Given the description of an element on the screen output the (x, y) to click on. 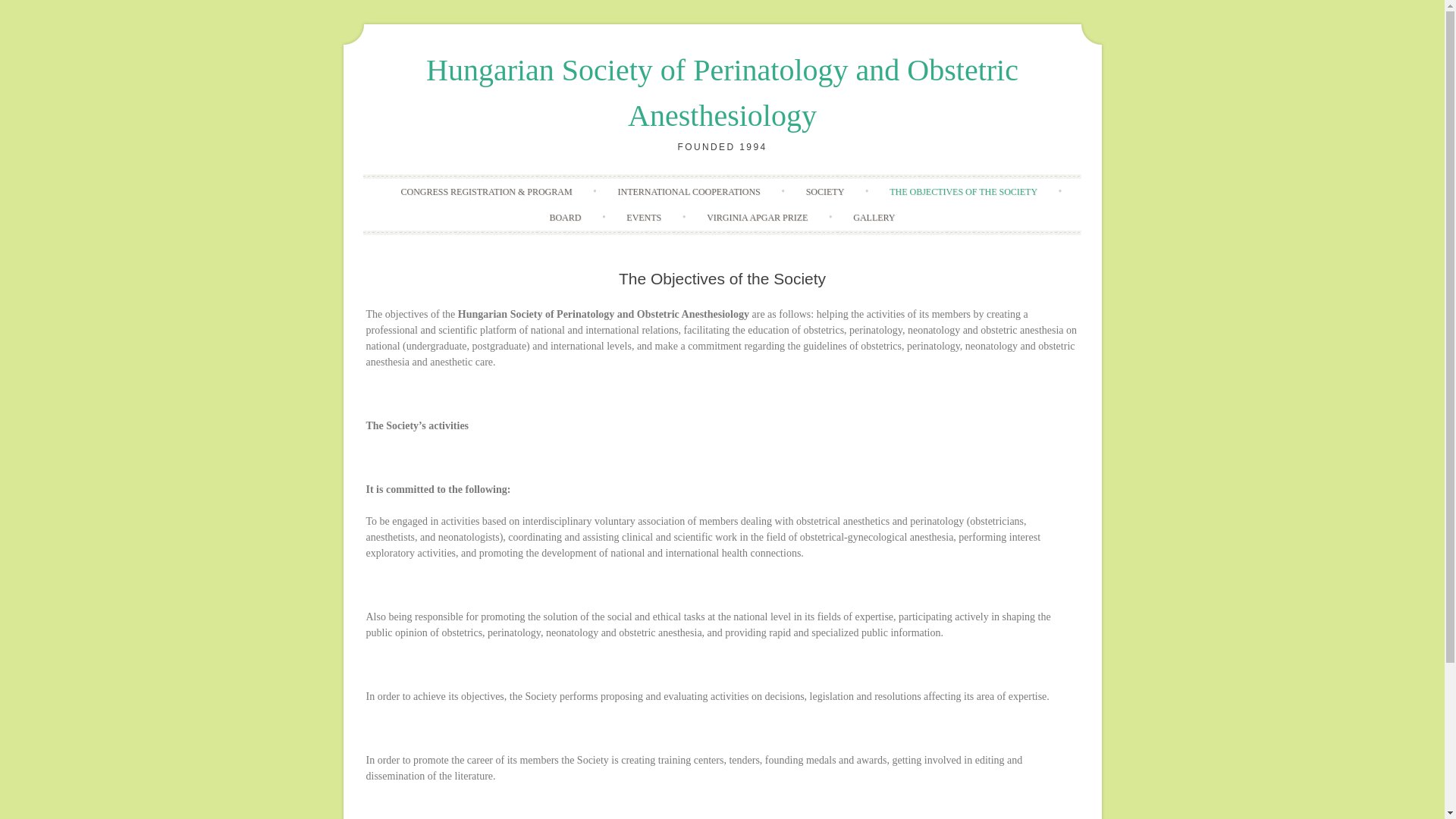
VIRGINIA APGAR PRIZE (756, 217)
INTERNATIONAL COOPERATIONS (687, 191)
EVENTS (643, 217)
BOARD (564, 217)
SOCIETY (825, 191)
GALLERY (873, 217)
THE OBJECTIVES OF THE SOCIETY (962, 191)
